Given the description of an element on the screen output the (x, y) to click on. 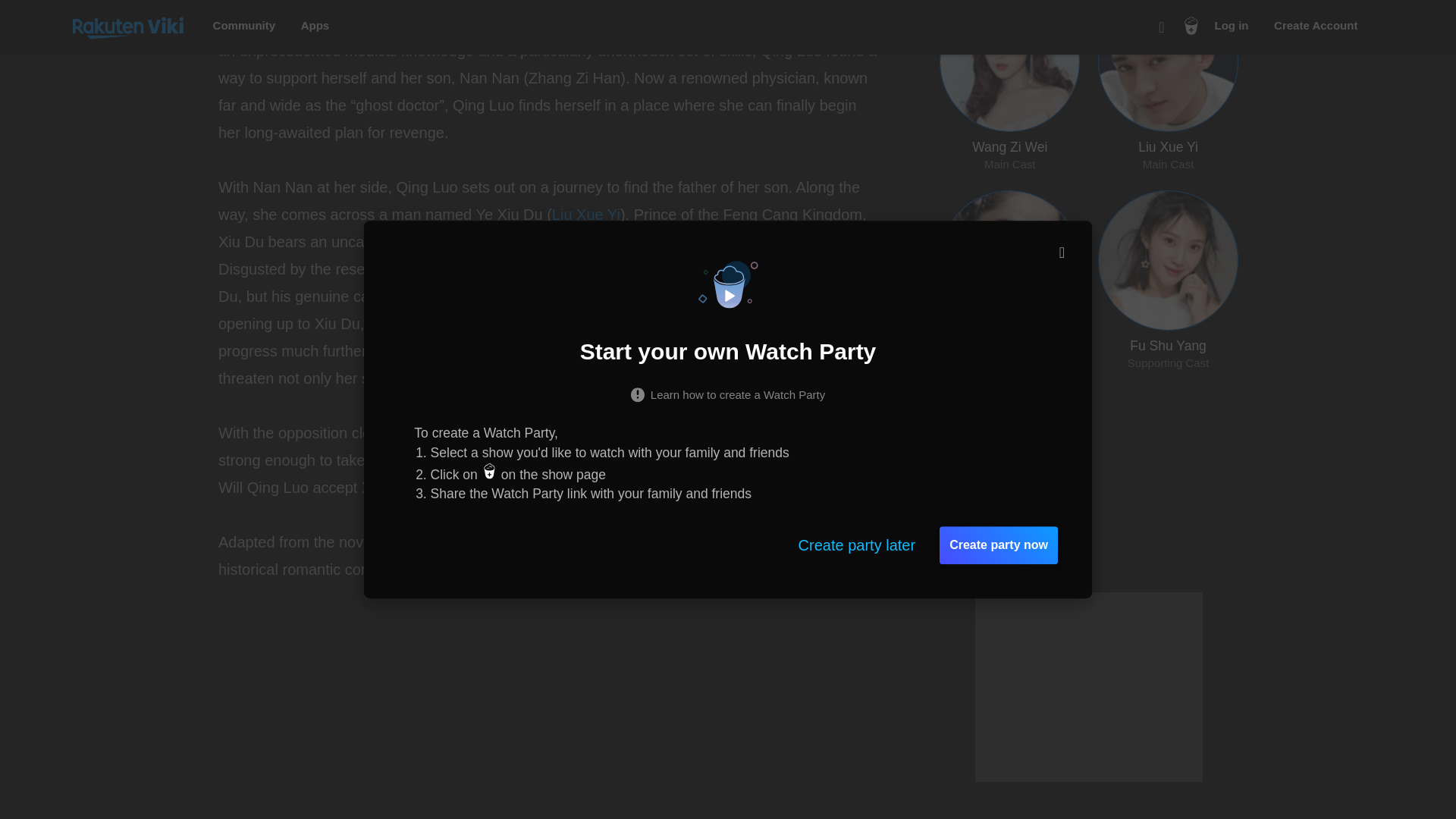
Wang Zi We (473, 2)
